Given the description of an element on the screen output the (x, y) to click on. 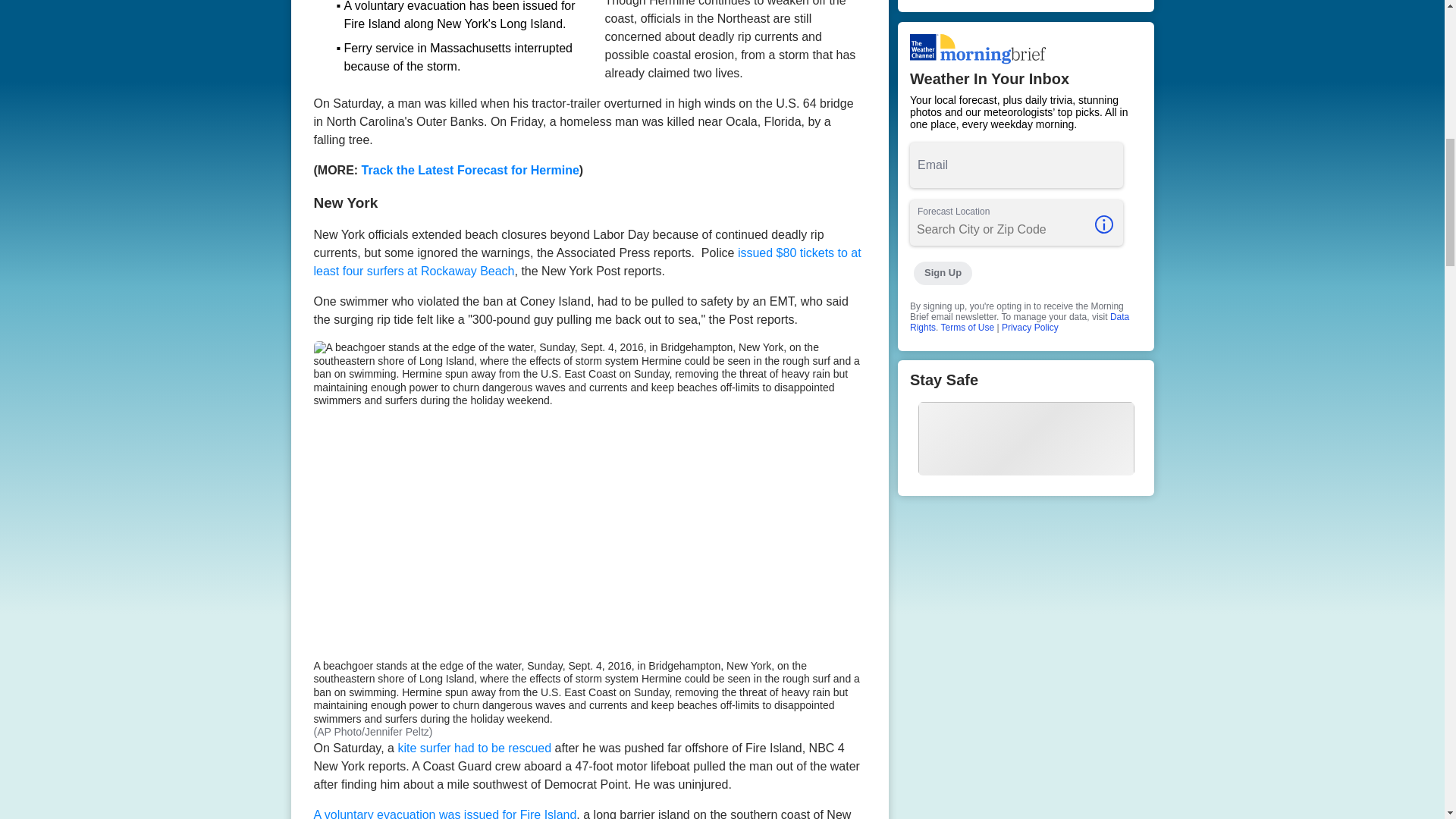
Stay Safe (1026, 428)
A voluntary evacuation was issued for Fire Island (445, 813)
Our World (1026, 6)
Track the Latest Forecast for Hermine (470, 169)
 kite surfer had to be rescued (472, 748)
